Given the description of an element on the screen output the (x, y) to click on. 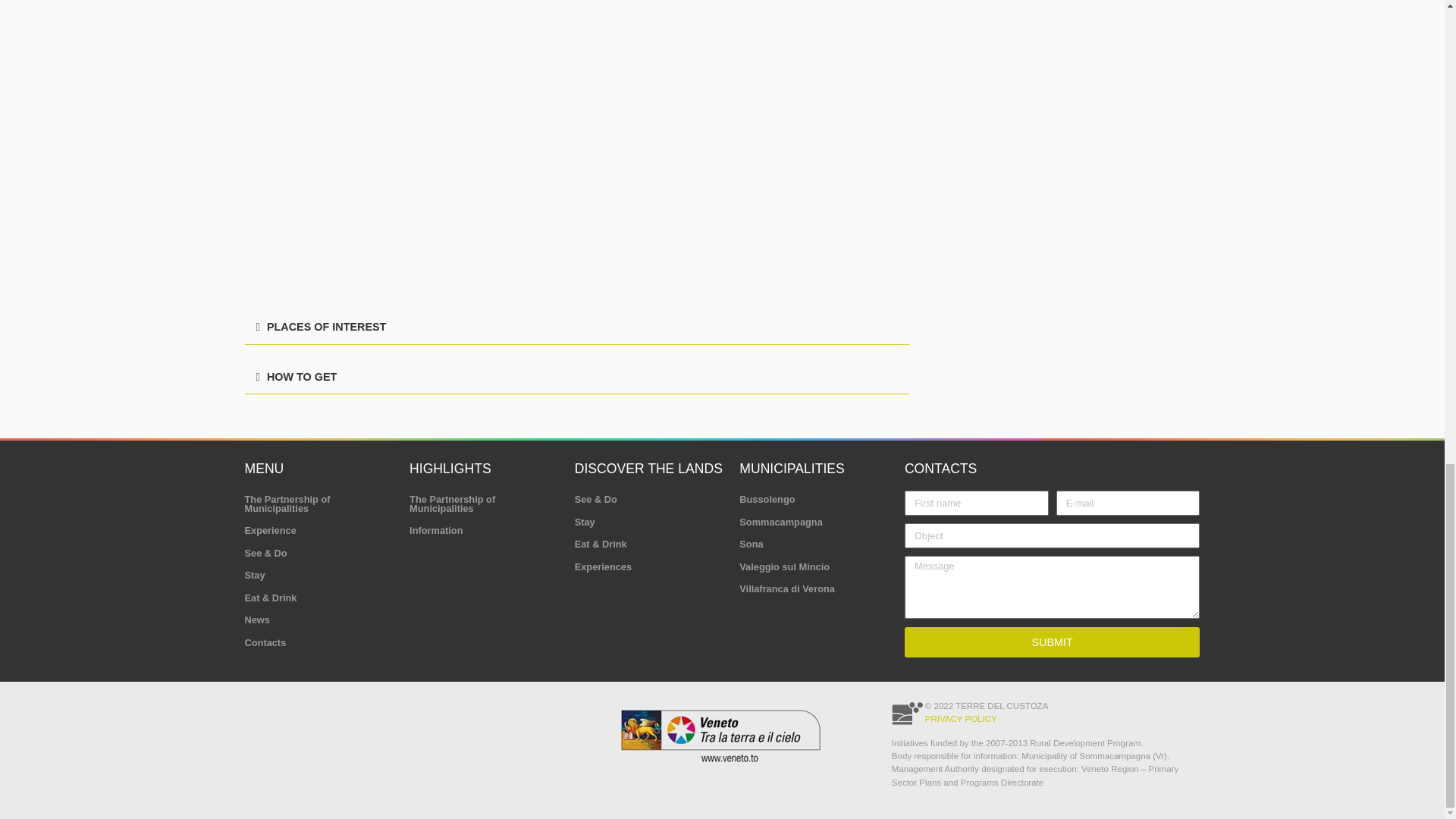
Contacts (319, 642)
Experience (319, 530)
Stay (319, 575)
The Partnership of Municipalities (319, 503)
PLACES OF INTEREST (326, 326)
News (319, 619)
HOW TO GET (301, 377)
